Given the description of an element on the screen output the (x, y) to click on. 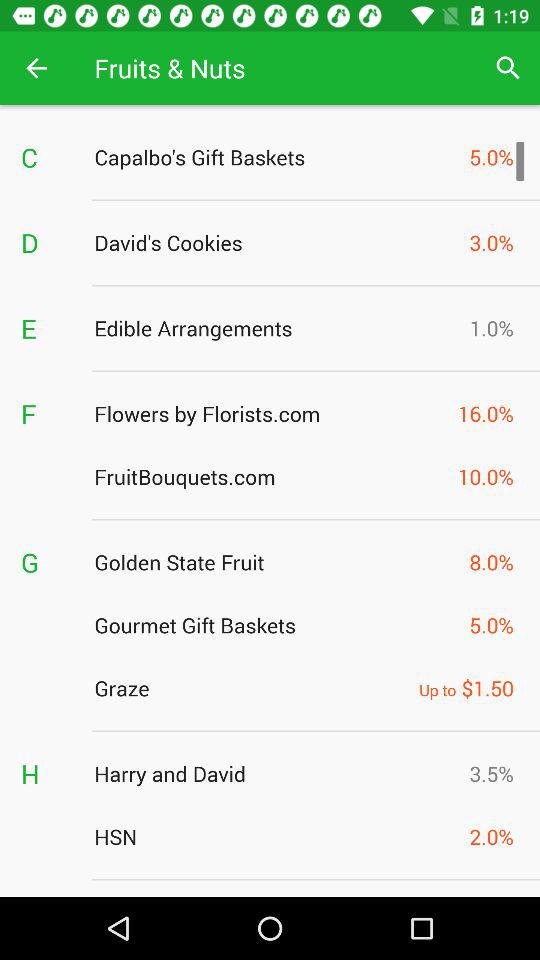
flip until the edible arrangements icon (276, 328)
